Given the description of an element on the screen output the (x, y) to click on. 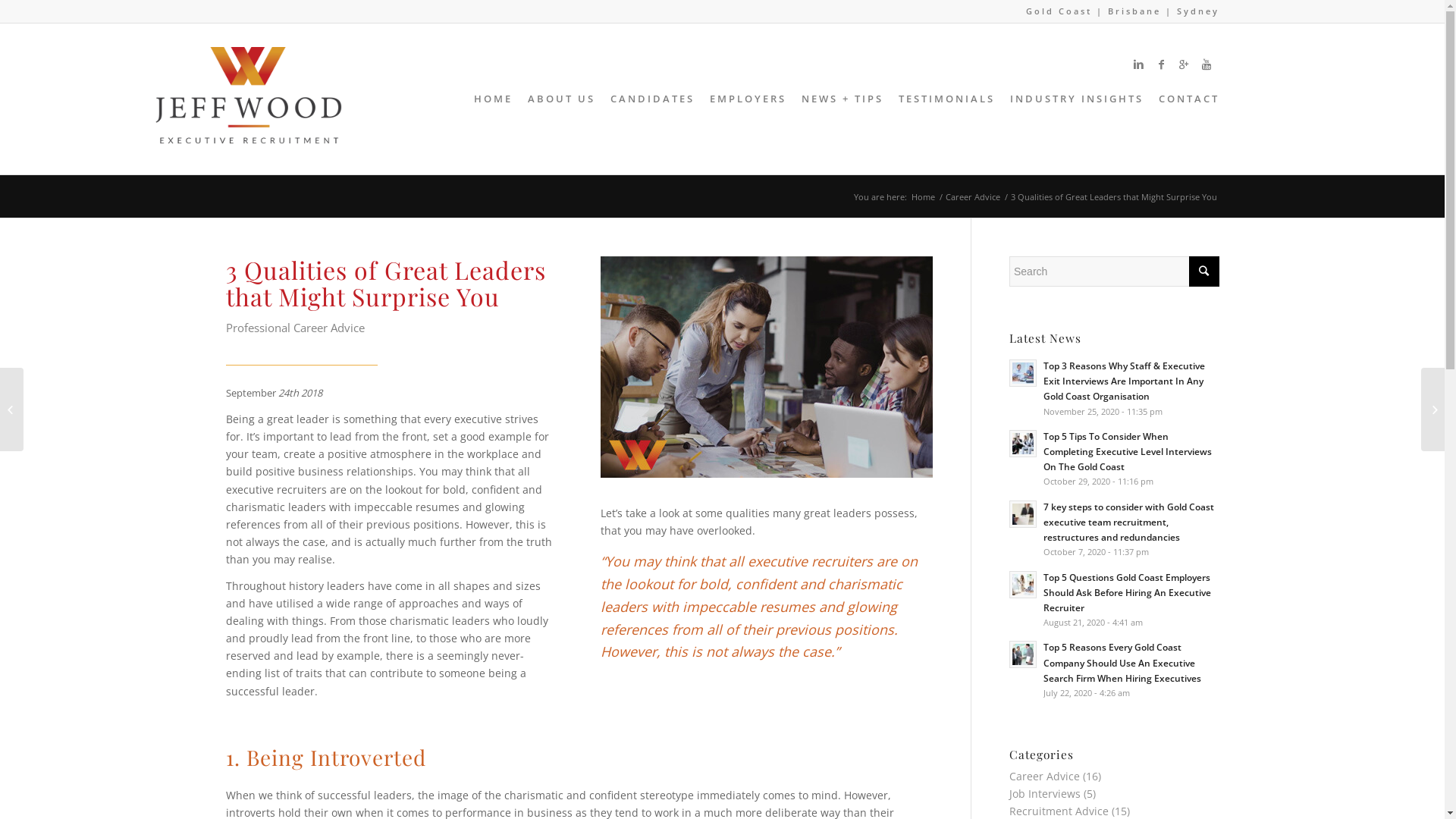
Gplus Element type: hover (1184, 64)
Linkedin Element type: hover (1139, 64)
EMPLOYERS Element type: text (747, 98)
Youtube Element type: hover (1207, 64)
HOME Element type: text (492, 98)
CANDIDATES Element type: text (651, 98)
ABOUT US Element type: text (561, 98)
Career Advice Element type: text (972, 196)
Recruitment Advice Element type: text (1058, 810)
CONTACT Element type: text (1185, 98)
NEWS + TIPS Element type: text (841, 98)
INDUSTRY INSIGHTS Element type: text (1076, 98)
Facebook Element type: hover (1162, 64)
Job Interviews Element type: text (1044, 793)
3-Qualitys-of-Great-Leaders-Main Element type: hover (766, 366)
Career Advice Element type: text (1044, 775)
TESTIMONIALS Element type: text (945, 98)
Home Element type: text (922, 196)
Gold Coast | Brisbane | Sydney Element type: text (1121, 10)
